Given the description of an element on the screen output the (x, y) to click on. 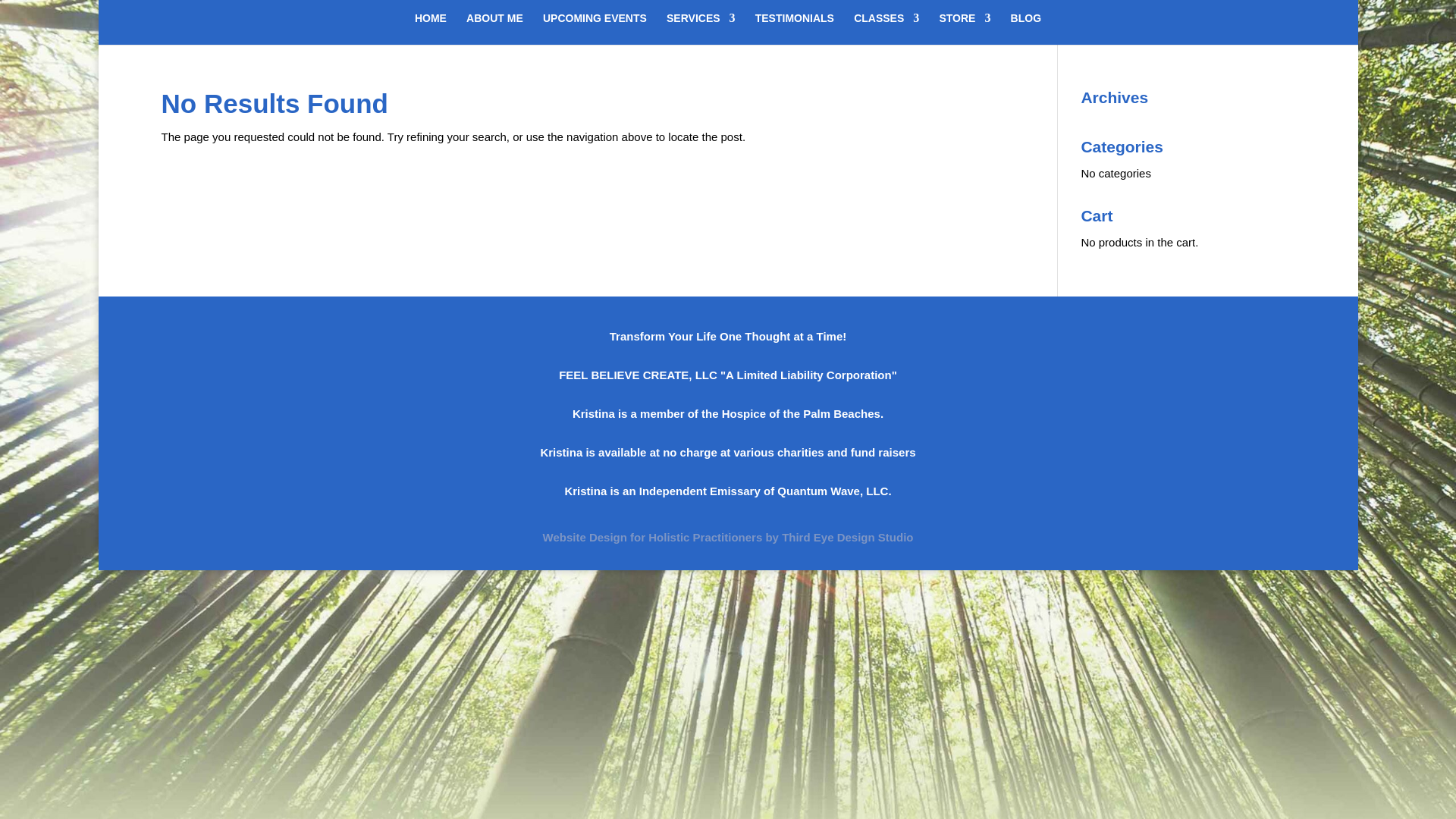
HOME (430, 29)
TESTIMONIALS (794, 29)
BLOG (1025, 29)
CLASSES (885, 29)
UPCOMING EVENTS (594, 29)
STORE (964, 29)
SERVICES (700, 29)
ABOUT ME (493, 29)
